Given the description of an element on the screen output the (x, y) to click on. 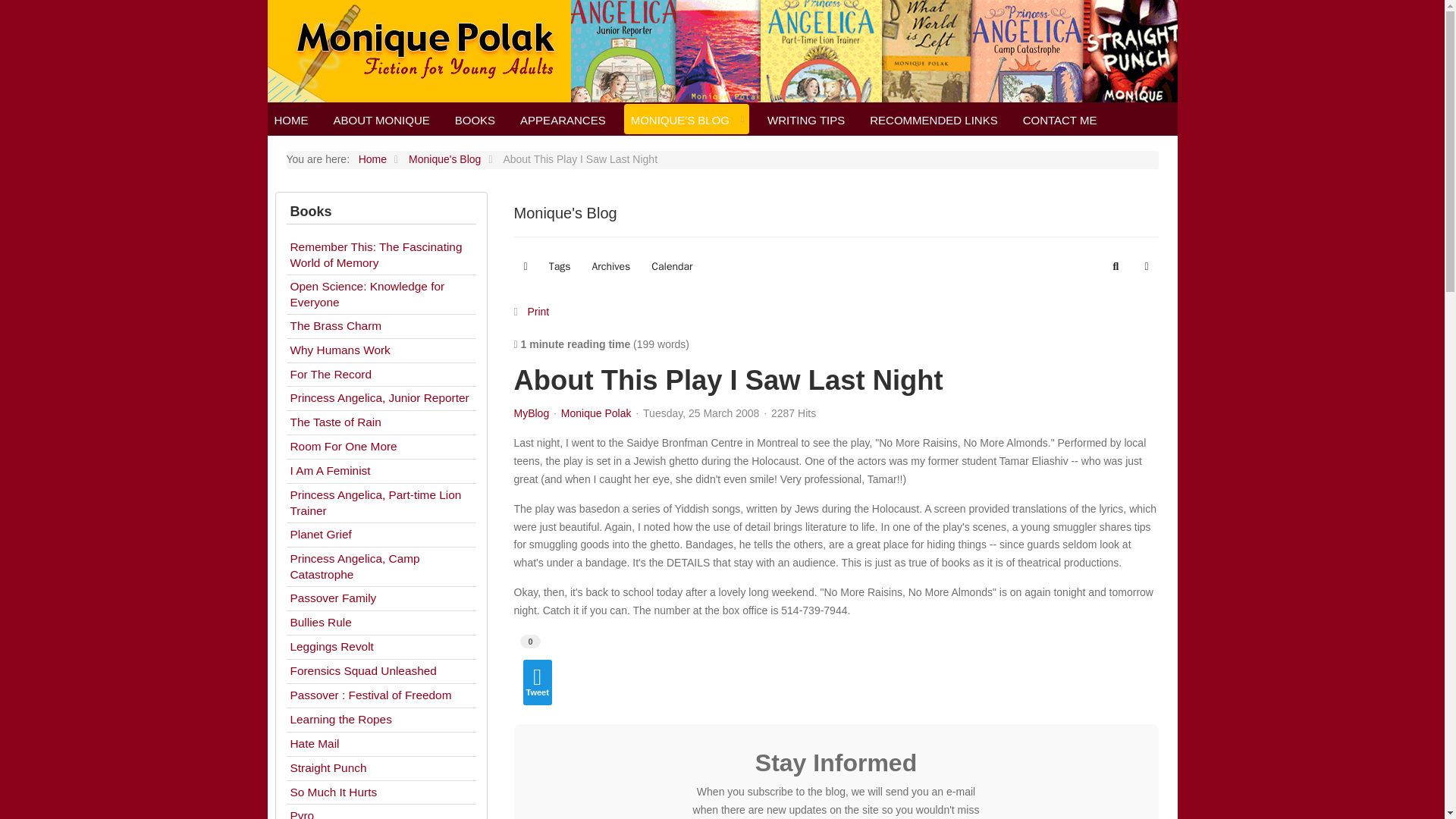
RECOMMENDED LINKS (933, 118)
0 (529, 640)
Calendar (671, 266)
Search (1116, 266)
WRITING TIPS (805, 118)
Calendar (671, 266)
0 votes (529, 641)
ABOUT MONIQUE (381, 118)
MONIQUE'S BLOG (686, 118)
BOOKS (474, 118)
